Given the description of an element on the screen output the (x, y) to click on. 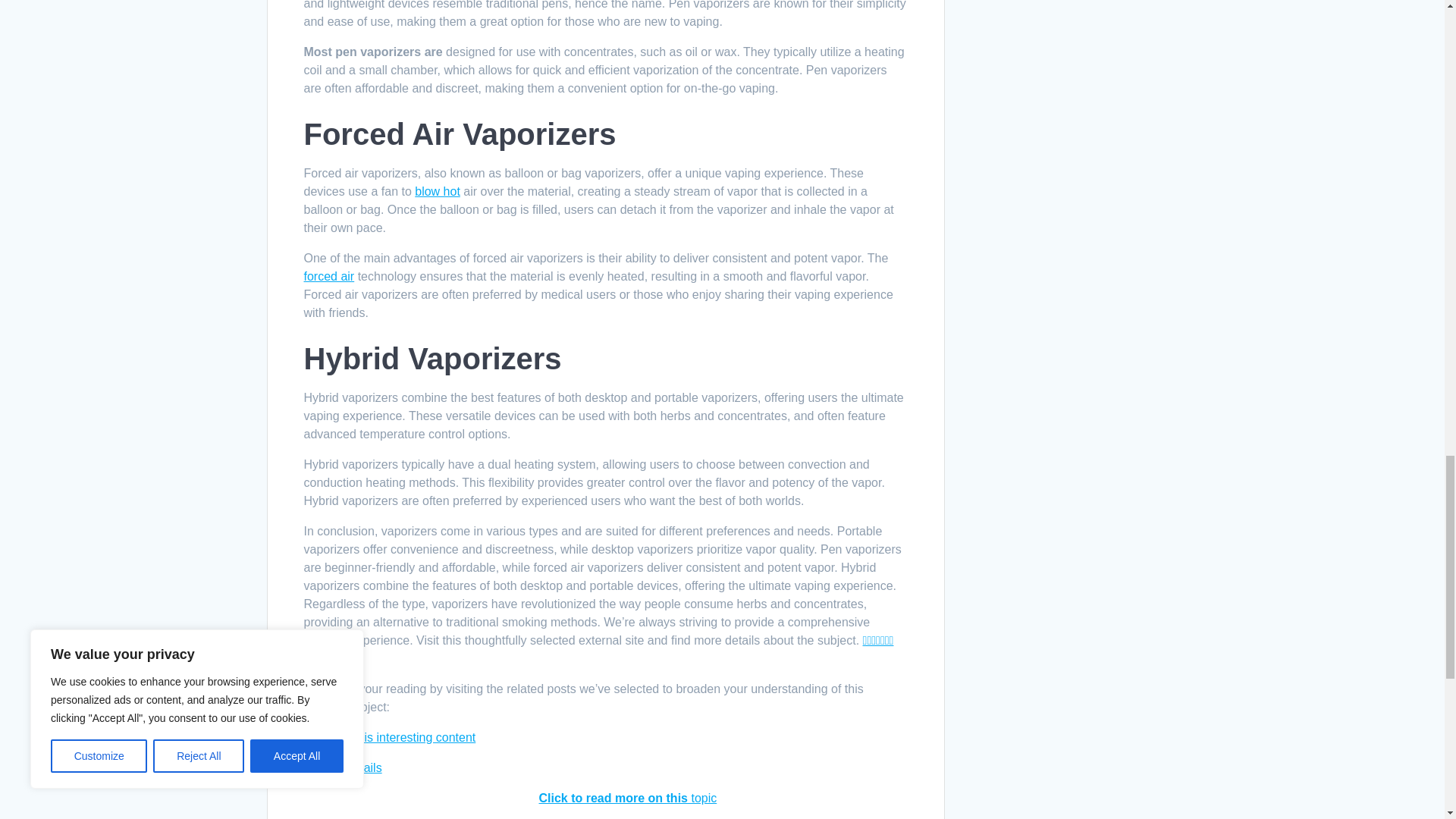
Discover this interesting content (389, 737)
Click to read more on this topic (627, 797)
forced air (327, 276)
Review details (341, 767)
blow hot (437, 191)
